Given the description of an element on the screen output the (x, y) to click on. 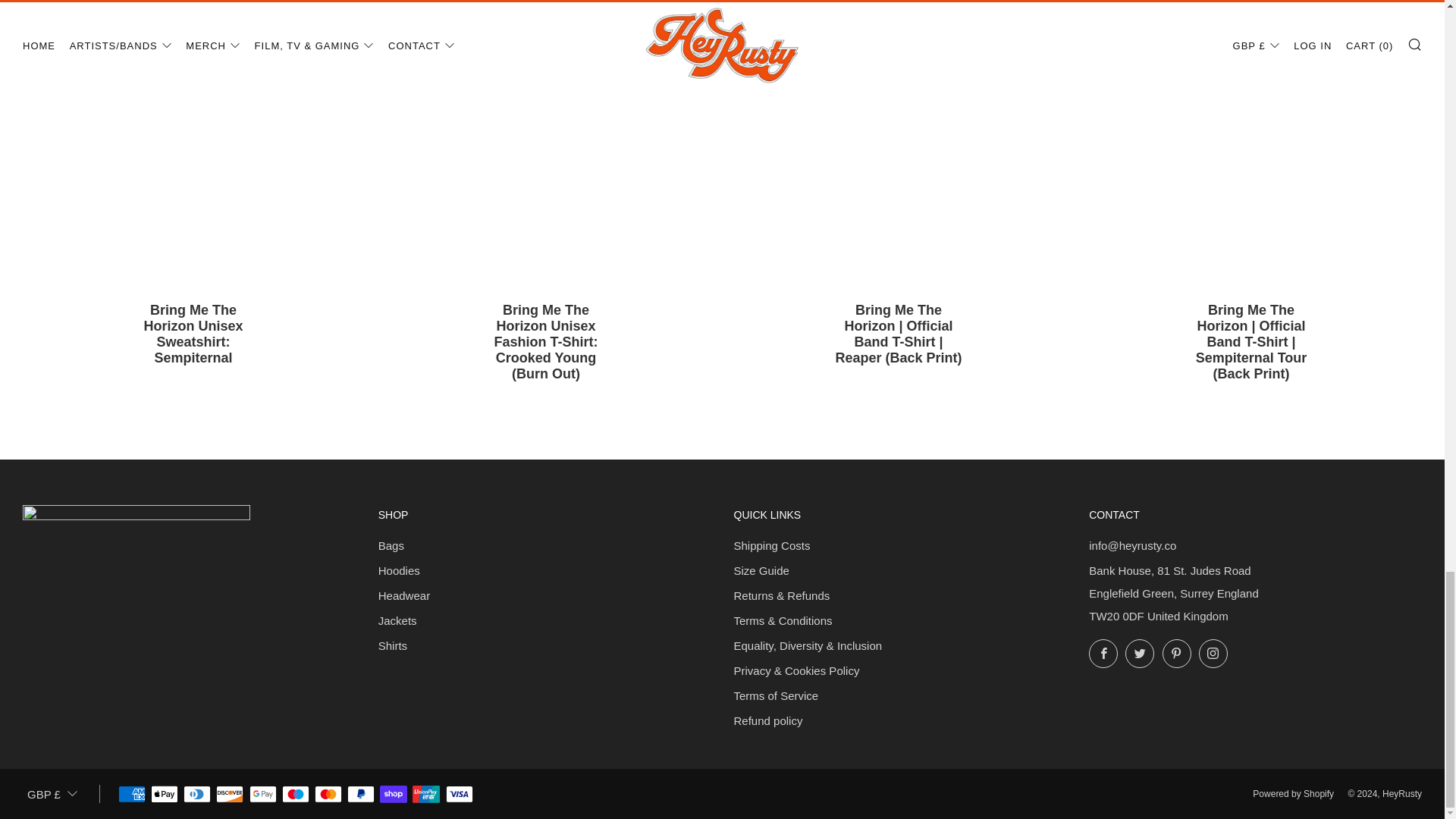
Bring Me The Horizon Unisex Sweatshirt: Sempiternal (193, 343)
